Given the description of an element on the screen output the (x, y) to click on. 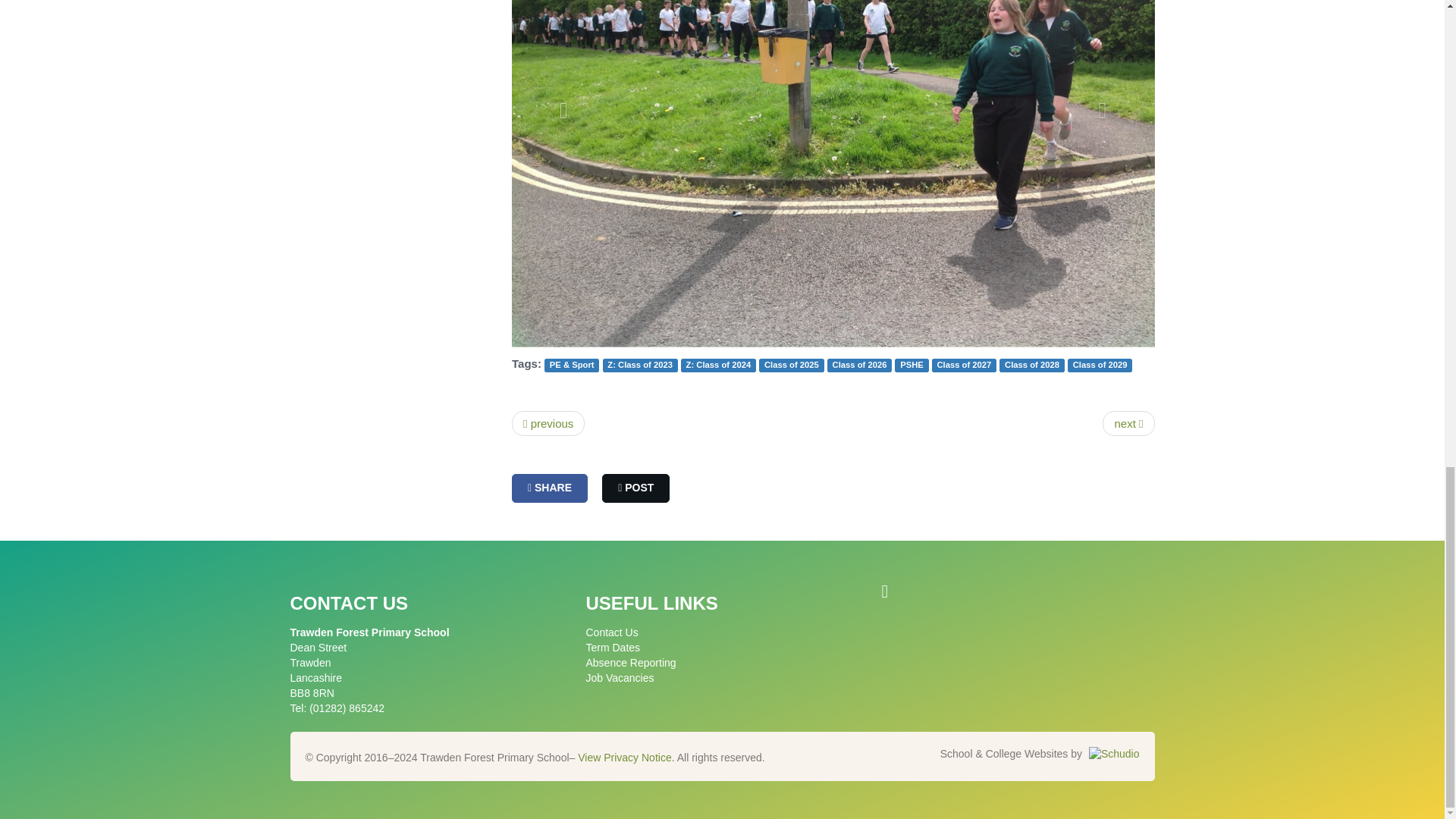
Cracking Cricket! (1128, 423)
Share on Facebook (550, 488)
Fabulous Flowers! (548, 423)
Post on X (635, 488)
